Given the description of an element on the screen output the (x, y) to click on. 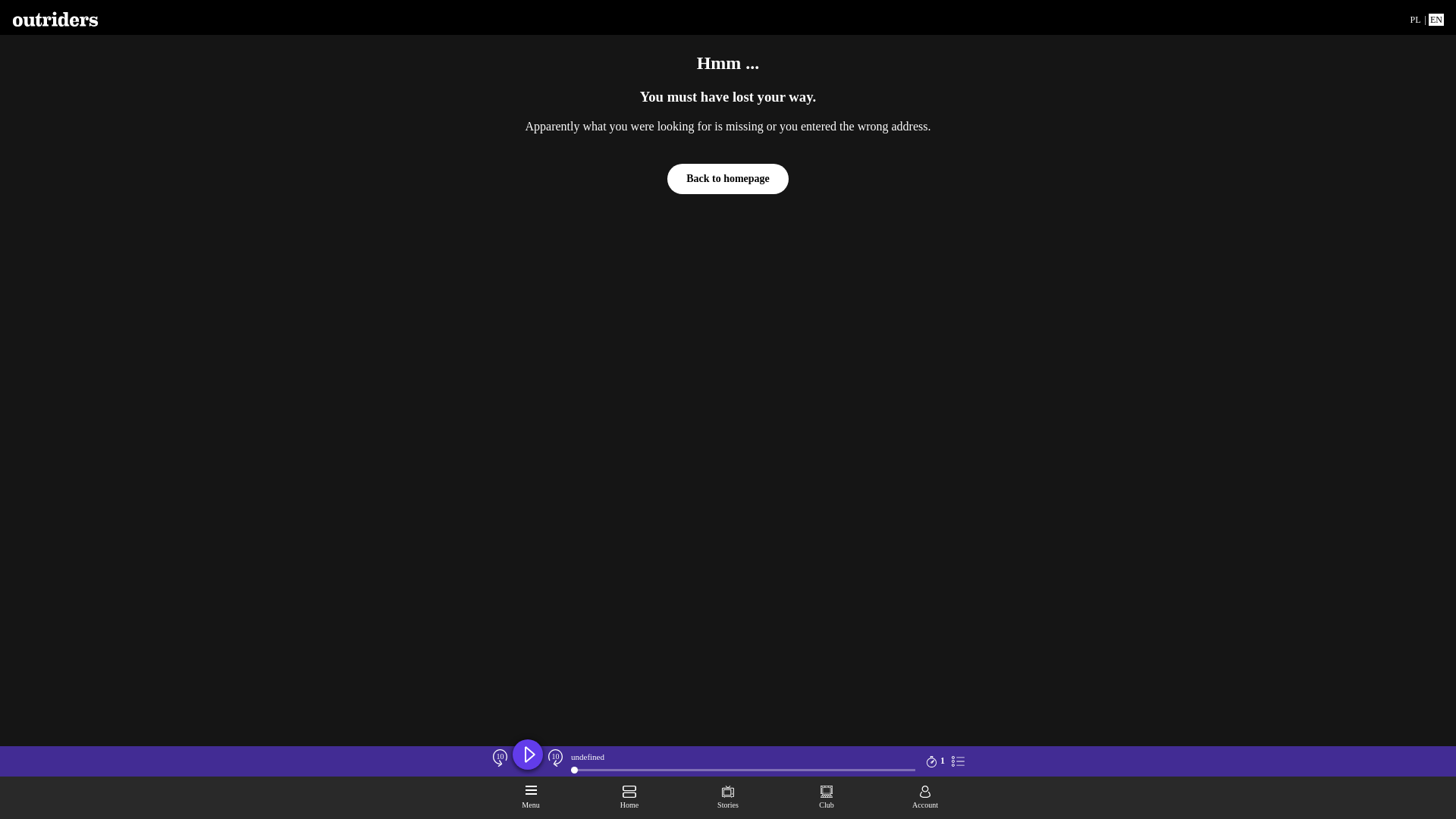
Back to homepage (727, 178)
PL (1415, 19)
EN (1436, 19)
